Given the description of an element on the screen output the (x, y) to click on. 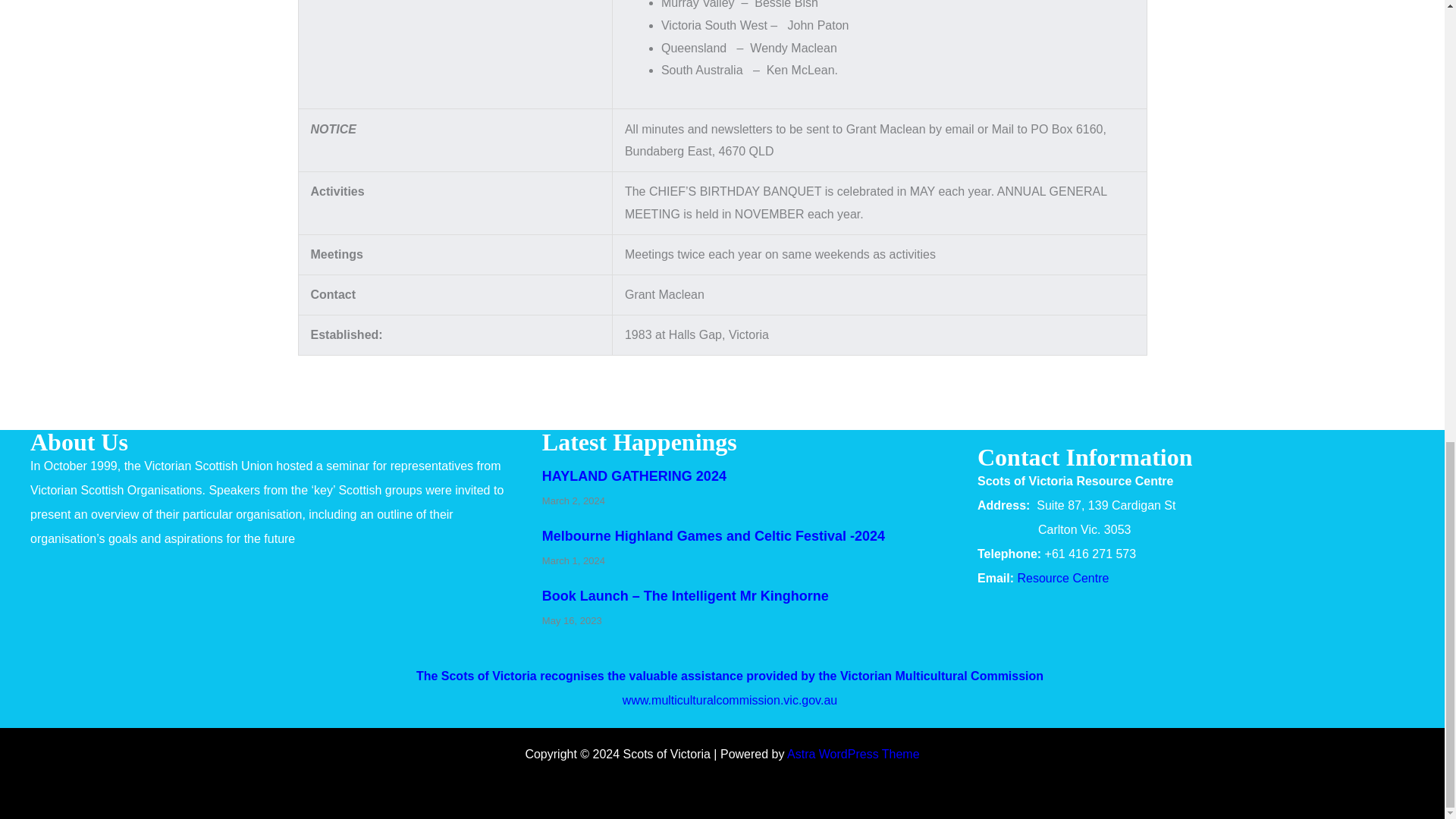
Melbourne Highland Games and Celtic Festival -2024 (713, 535)
HAYLAND GATHERING 2024 (633, 476)
Resource Centre (1062, 577)
Astra WordPress Theme (853, 753)
